Given the description of an element on the screen output the (x, y) to click on. 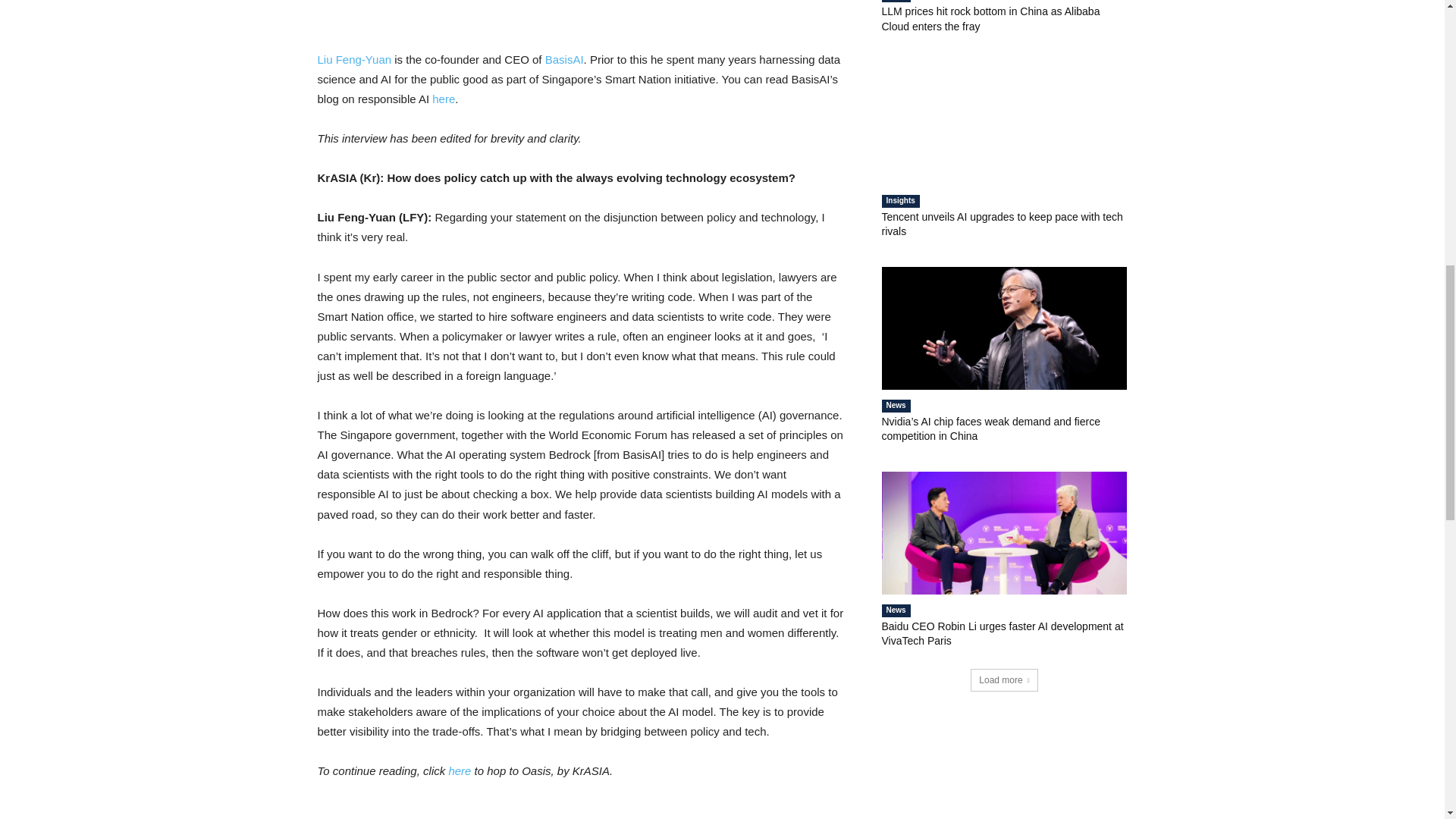
here (443, 98)
BasisAI (563, 59)
here (459, 770)
basis ai (580, 6)
Liu Feng-Yuan (354, 59)
